Given the description of an element on the screen output the (x, y) to click on. 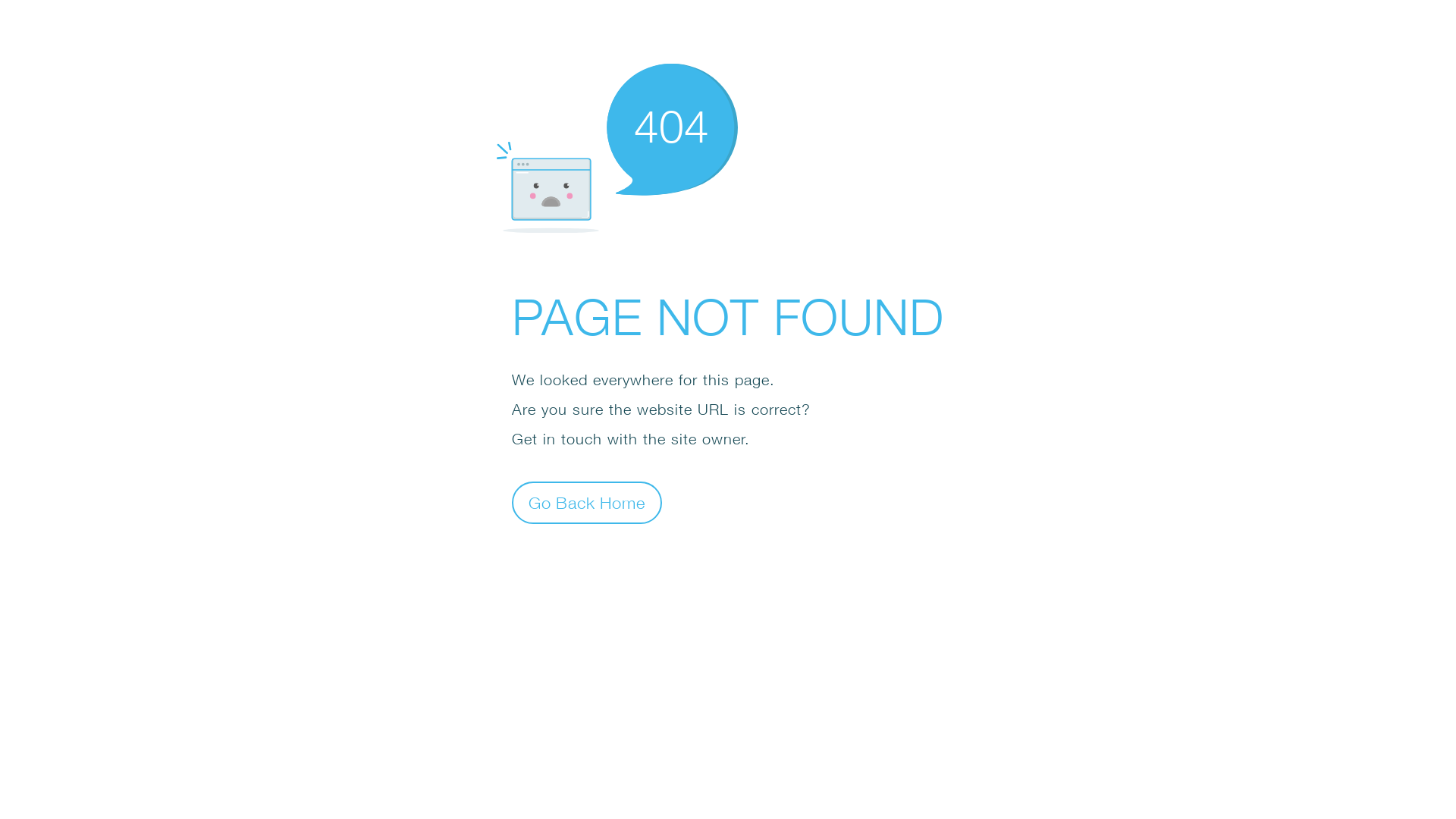
Go Back Home Element type: text (586, 502)
